Given the description of an element on the screen output the (x, y) to click on. 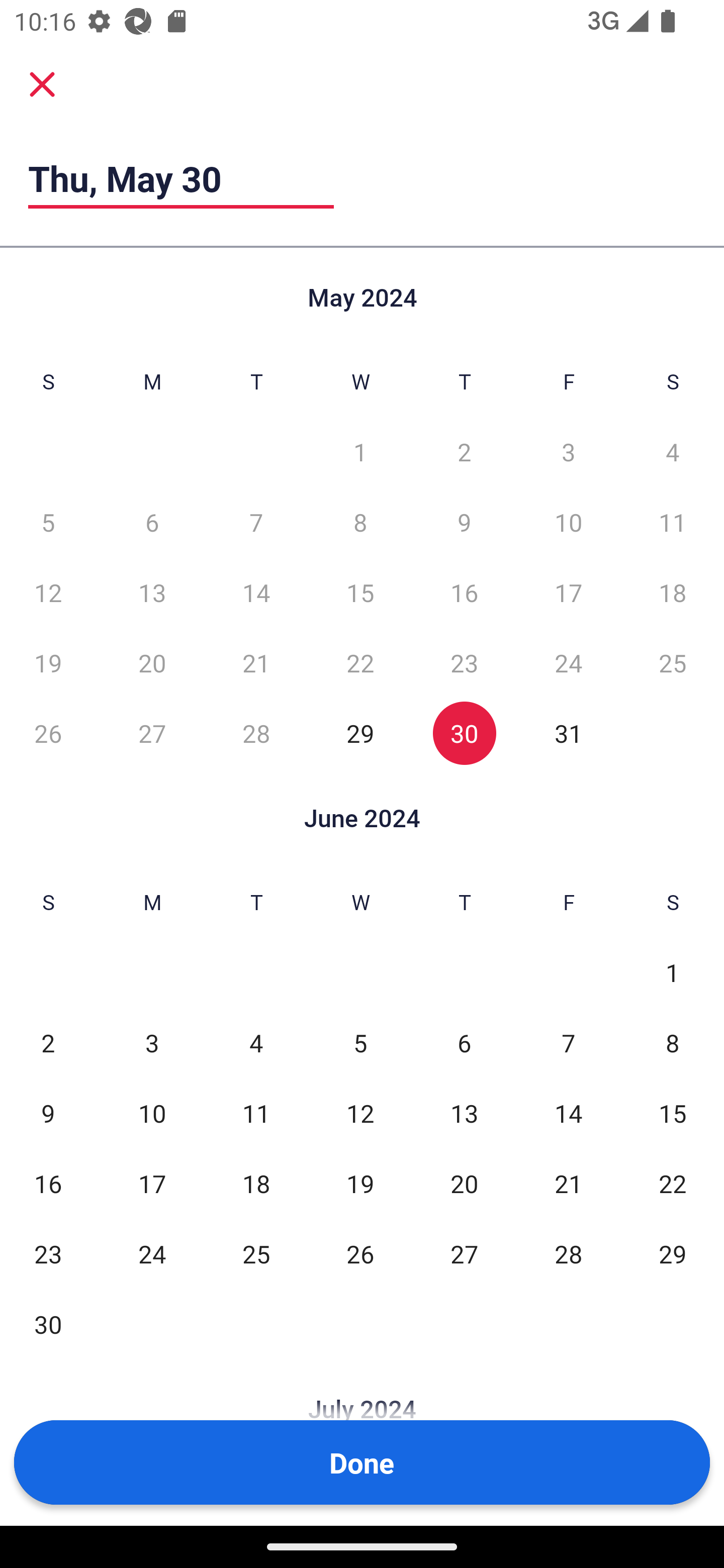
Cancel (41, 83)
Thu, May 30 (180, 178)
1 Wed, May 1, Not Selected (360, 452)
2 Thu, May 2, Not Selected (464, 452)
3 Fri, May 3, Not Selected (568, 452)
4 Sat, May 4, Not Selected (672, 452)
5 Sun, May 5, Not Selected (48, 521)
6 Mon, May 6, Not Selected (152, 521)
7 Tue, May 7, Not Selected (256, 521)
8 Wed, May 8, Not Selected (360, 521)
9 Thu, May 9, Not Selected (464, 521)
10 Fri, May 10, Not Selected (568, 521)
11 Sat, May 11, Not Selected (672, 521)
12 Sun, May 12, Not Selected (48, 591)
13 Mon, May 13, Not Selected (152, 591)
14 Tue, May 14, Not Selected (256, 591)
15 Wed, May 15, Not Selected (360, 591)
16 Thu, May 16, Not Selected (464, 591)
17 Fri, May 17, Not Selected (568, 591)
18 Sat, May 18, Not Selected (672, 591)
19 Sun, May 19, Not Selected (48, 662)
20 Mon, May 20, Not Selected (152, 662)
21 Tue, May 21, Not Selected (256, 662)
22 Wed, May 22, Not Selected (360, 662)
23 Thu, May 23, Not Selected (464, 662)
24 Fri, May 24, Not Selected (568, 662)
25 Sat, May 25, Not Selected (672, 662)
26 Sun, May 26, Not Selected (48, 732)
27 Mon, May 27, Not Selected (152, 732)
28 Tue, May 28, Not Selected (256, 732)
29 Wed, May 29, Not Selected (360, 732)
30 Thu, May 30, Selected (464, 732)
31 Fri, May 31, Not Selected (568, 732)
1 Sat, Jun 1, Not Selected (672, 972)
2 Sun, Jun 2, Not Selected (48, 1043)
3 Mon, Jun 3, Not Selected (152, 1043)
4 Tue, Jun 4, Not Selected (256, 1043)
5 Wed, Jun 5, Not Selected (360, 1043)
6 Thu, Jun 6, Not Selected (464, 1043)
7 Fri, Jun 7, Not Selected (568, 1043)
8 Sat, Jun 8, Not Selected (672, 1043)
9 Sun, Jun 9, Not Selected (48, 1112)
10 Mon, Jun 10, Not Selected (152, 1112)
11 Tue, Jun 11, Not Selected (256, 1112)
12 Wed, Jun 12, Not Selected (360, 1112)
13 Thu, Jun 13, Not Selected (464, 1112)
14 Fri, Jun 14, Not Selected (568, 1112)
15 Sat, Jun 15, Not Selected (672, 1112)
16 Sun, Jun 16, Not Selected (48, 1182)
17 Mon, Jun 17, Not Selected (152, 1182)
18 Tue, Jun 18, Not Selected (256, 1182)
19 Wed, Jun 19, Not Selected (360, 1182)
20 Thu, Jun 20, Not Selected (464, 1182)
21 Fri, Jun 21, Not Selected (568, 1182)
22 Sat, Jun 22, Not Selected (672, 1182)
23 Sun, Jun 23, Not Selected (48, 1253)
24 Mon, Jun 24, Not Selected (152, 1253)
25 Tue, Jun 25, Not Selected (256, 1253)
26 Wed, Jun 26, Not Selected (360, 1253)
27 Thu, Jun 27, Not Selected (464, 1253)
28 Fri, Jun 28, Not Selected (568, 1253)
29 Sat, Jun 29, Not Selected (672, 1253)
30 Sun, Jun 30, Not Selected (48, 1323)
Done Button Done (361, 1462)
